Given the description of an element on the screen output the (x, y) to click on. 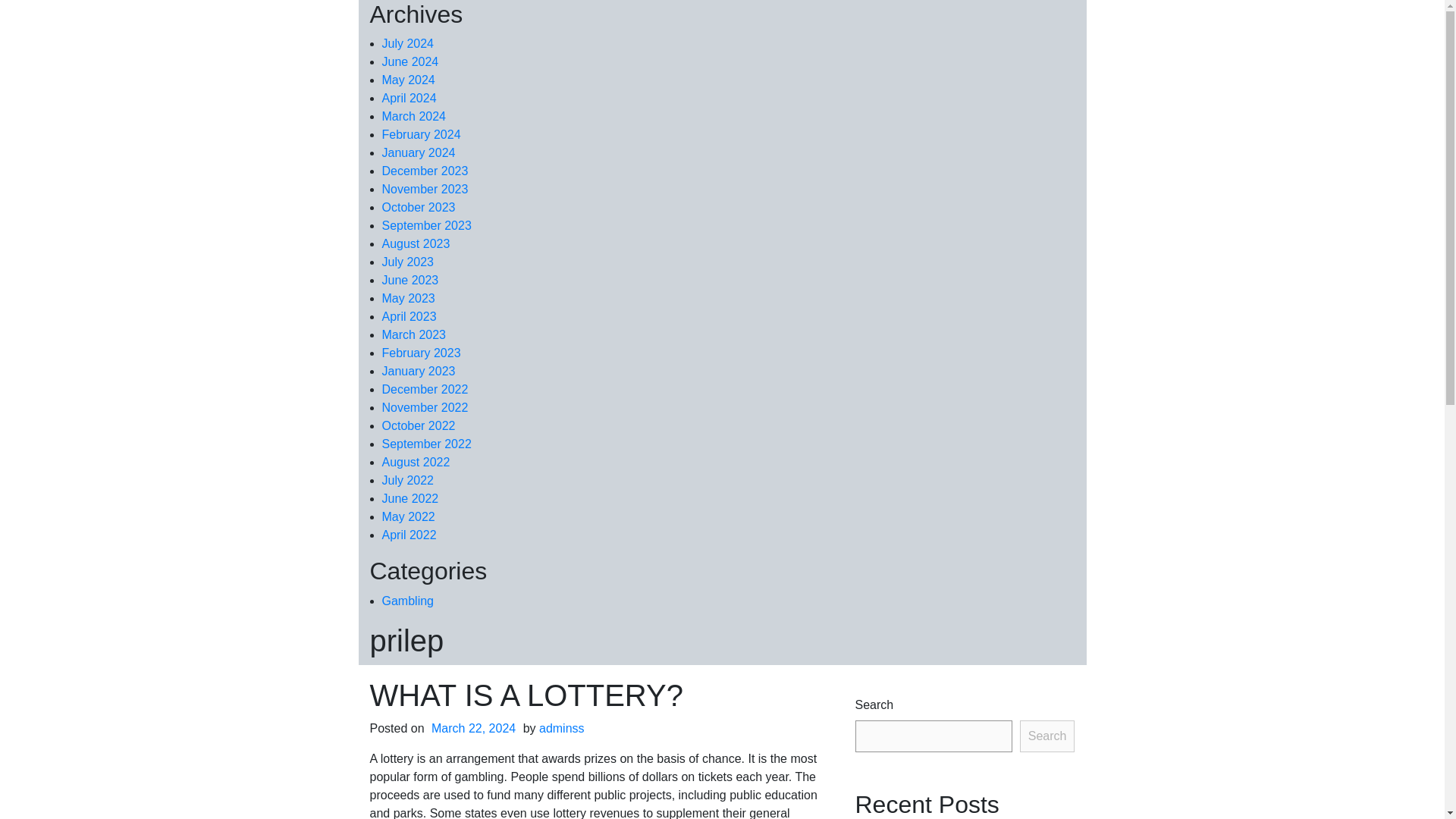
October 2023 (418, 206)
October 2022 (418, 425)
June 2024 (410, 61)
February 2024 (421, 133)
September 2023 (426, 225)
May 2024 (408, 79)
March 2024 (413, 115)
Search (1047, 736)
May 2023 (408, 297)
December 2022 (424, 389)
March 2023 (413, 334)
adminss (561, 727)
September 2022 (426, 443)
July 2022 (407, 480)
January 2023 (418, 370)
